Given the description of an element on the screen output the (x, y) to click on. 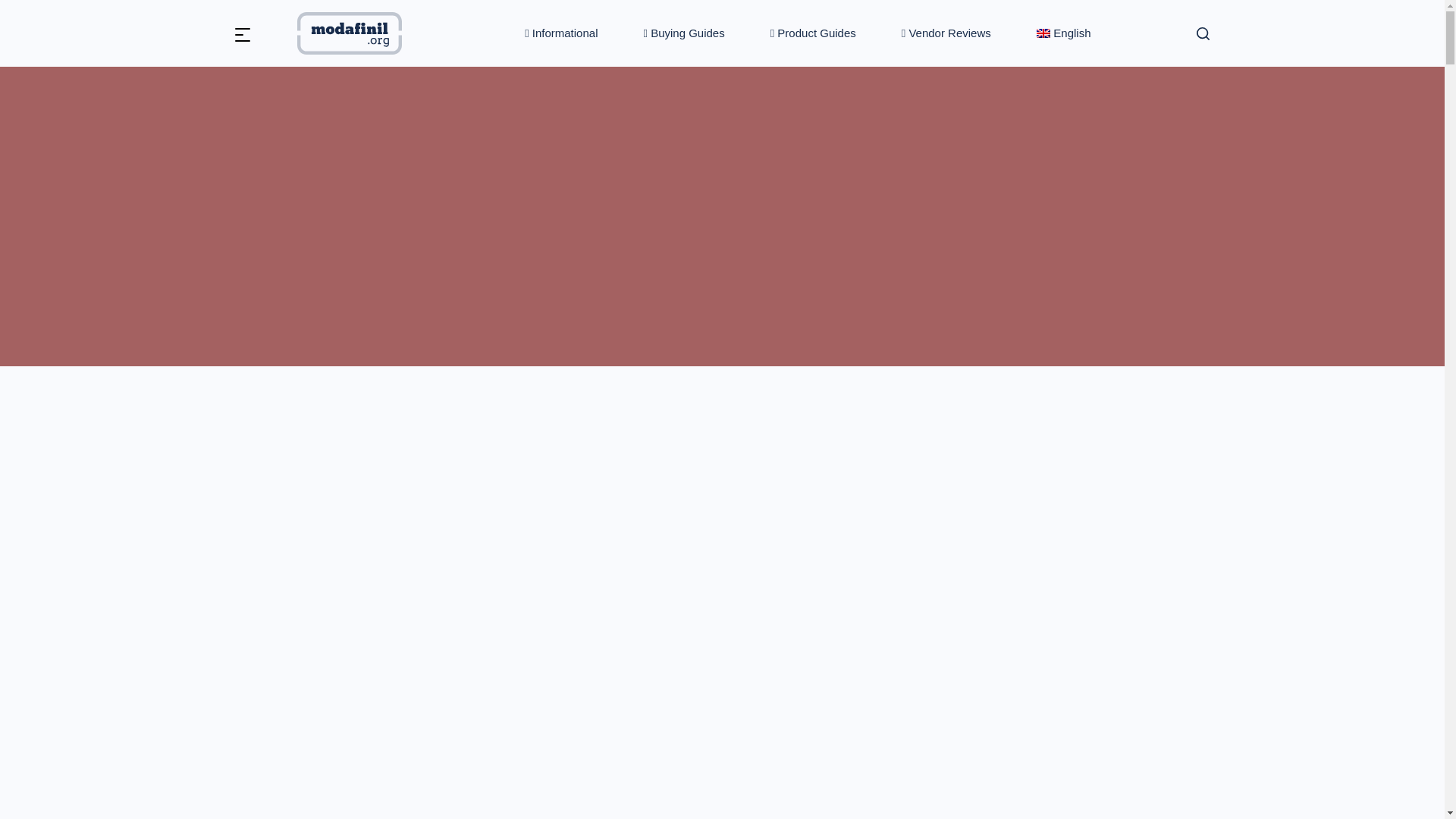
English (1063, 33)
English (1063, 33)
